Given the description of an element on the screen output the (x, y) to click on. 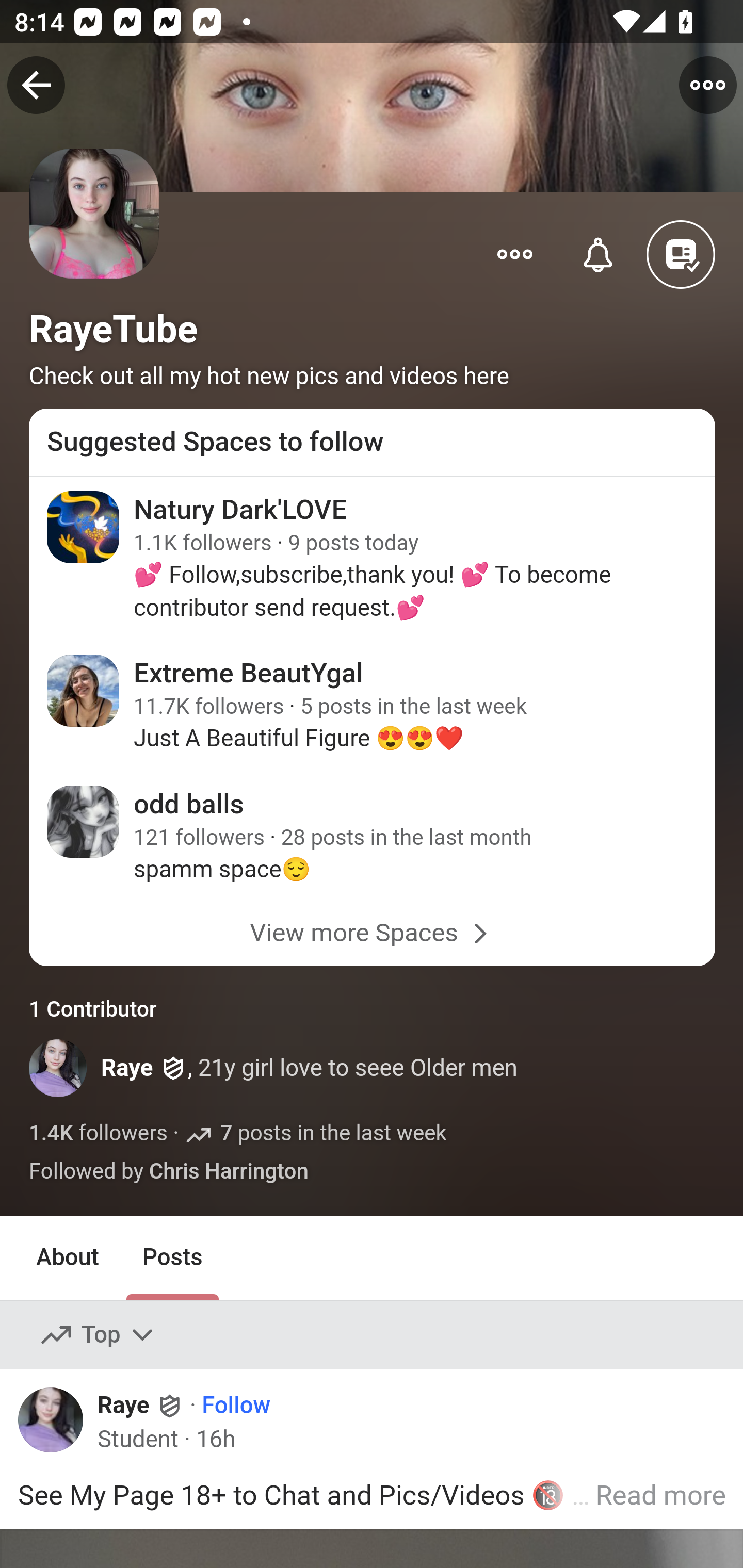
Icon for RayeTube (94, 239)
More (514, 252)
Personalized (598, 252)
RayeTube (113, 329)
View more Spaces (372, 932)
Profile photo for Raye (58, 1067)
Raye (127, 1068)
1.4K followers (98, 1132)
Chris Harrington (227, 1171)
About (68, 1258)
Posts (171, 1258)
Top (97, 1334)
Profile photo for Raye (57, 1425)
Raye Raye   (141, 1404)
Follow (235, 1405)
16h 16 h (215, 1439)
